Given the description of an element on the screen output the (x, y) to click on. 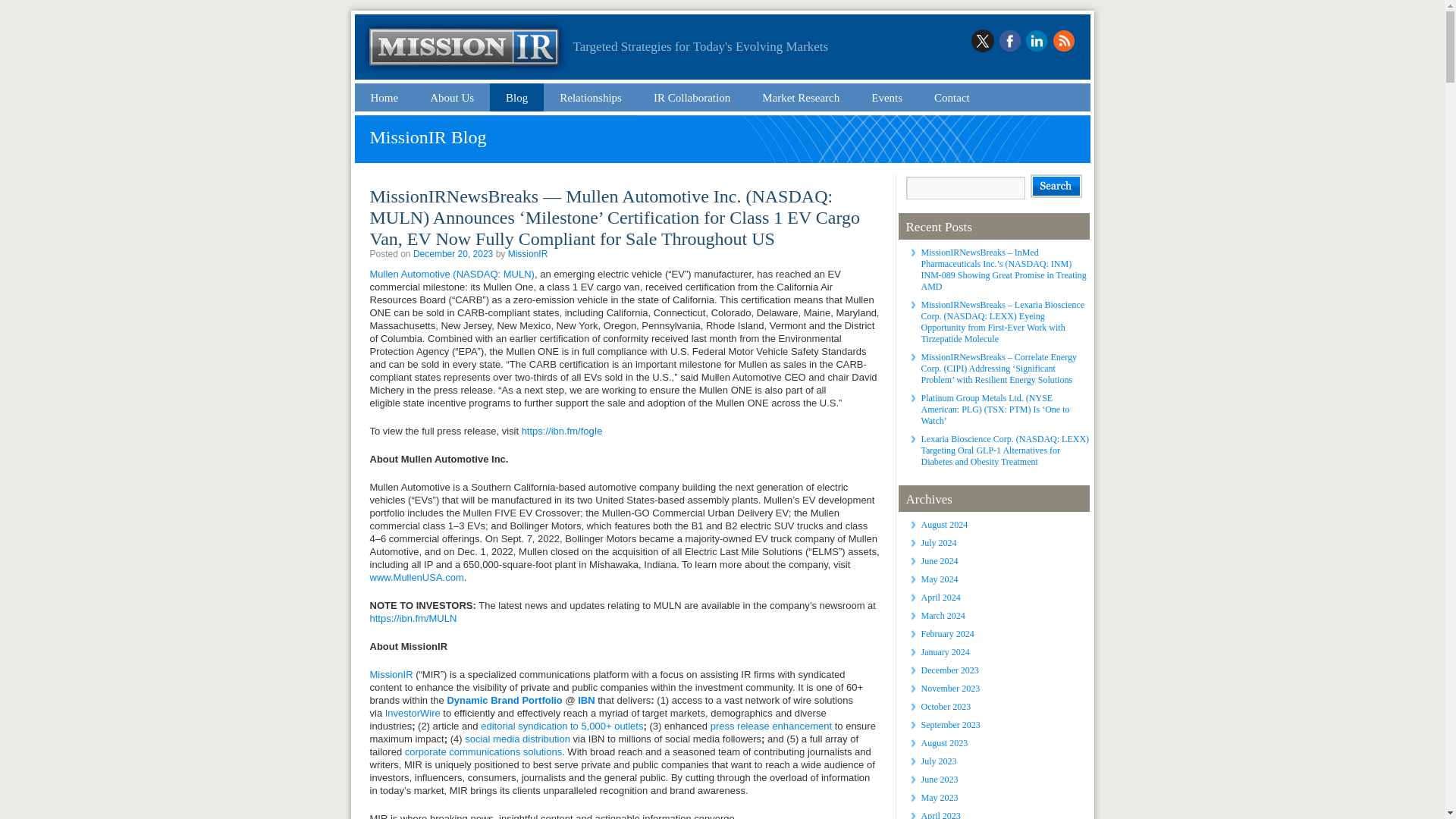
IR Collaboration (691, 97)
Events (887, 97)
Contact (952, 97)
IBN (586, 699)
MissionIR (528, 253)
press release enhancement (770, 726)
December 20, 2023 (453, 253)
social media distribution (517, 738)
Market Research (800, 97)
www.MullenUSA.com (416, 577)
